Given the description of an element on the screen output the (x, y) to click on. 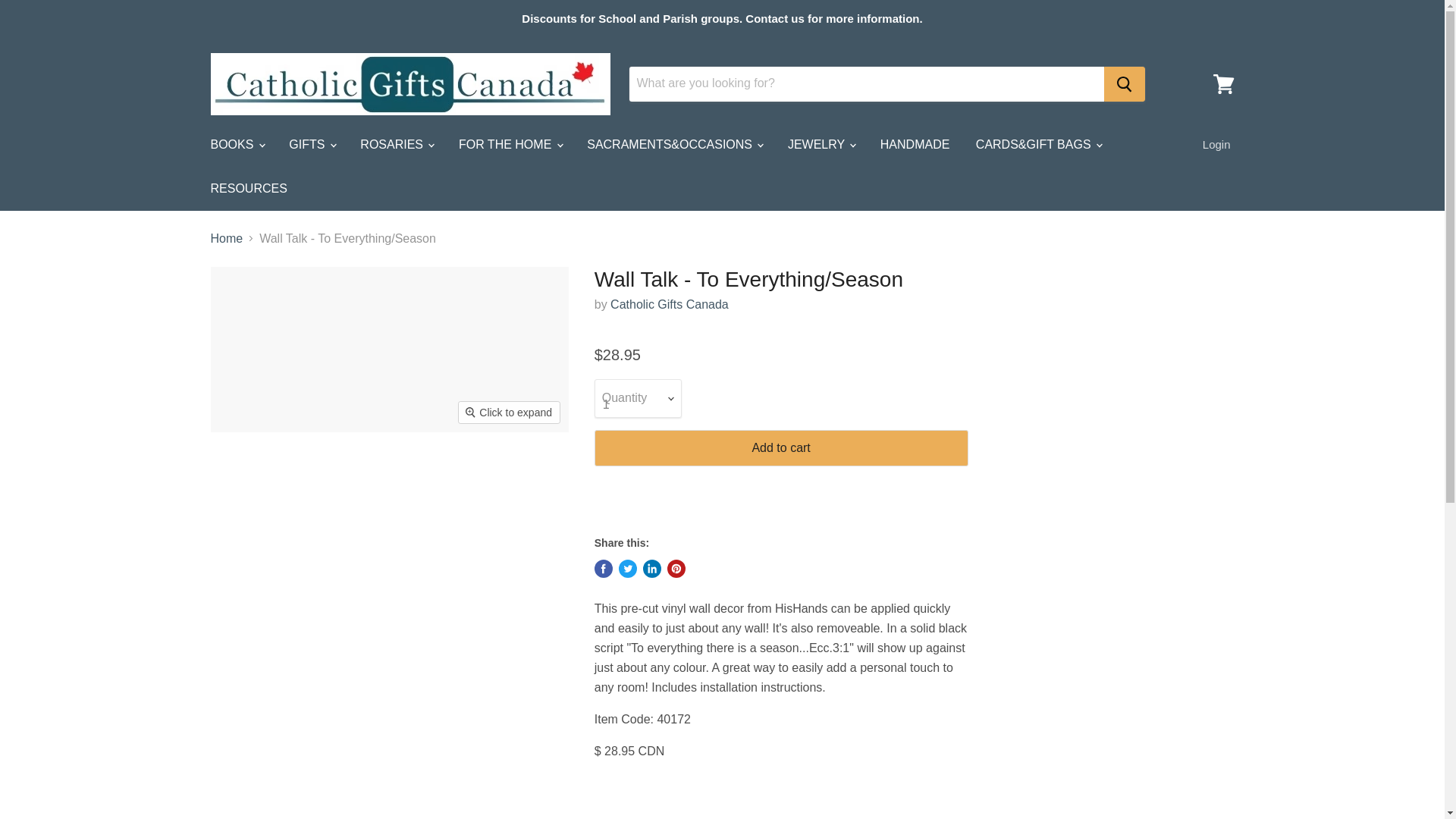
Catholic Gifts Canada (669, 304)
View cart (1223, 83)
GIFTS (312, 144)
BOOKS (235, 144)
